Given the description of an element on the screen output the (x, y) to click on. 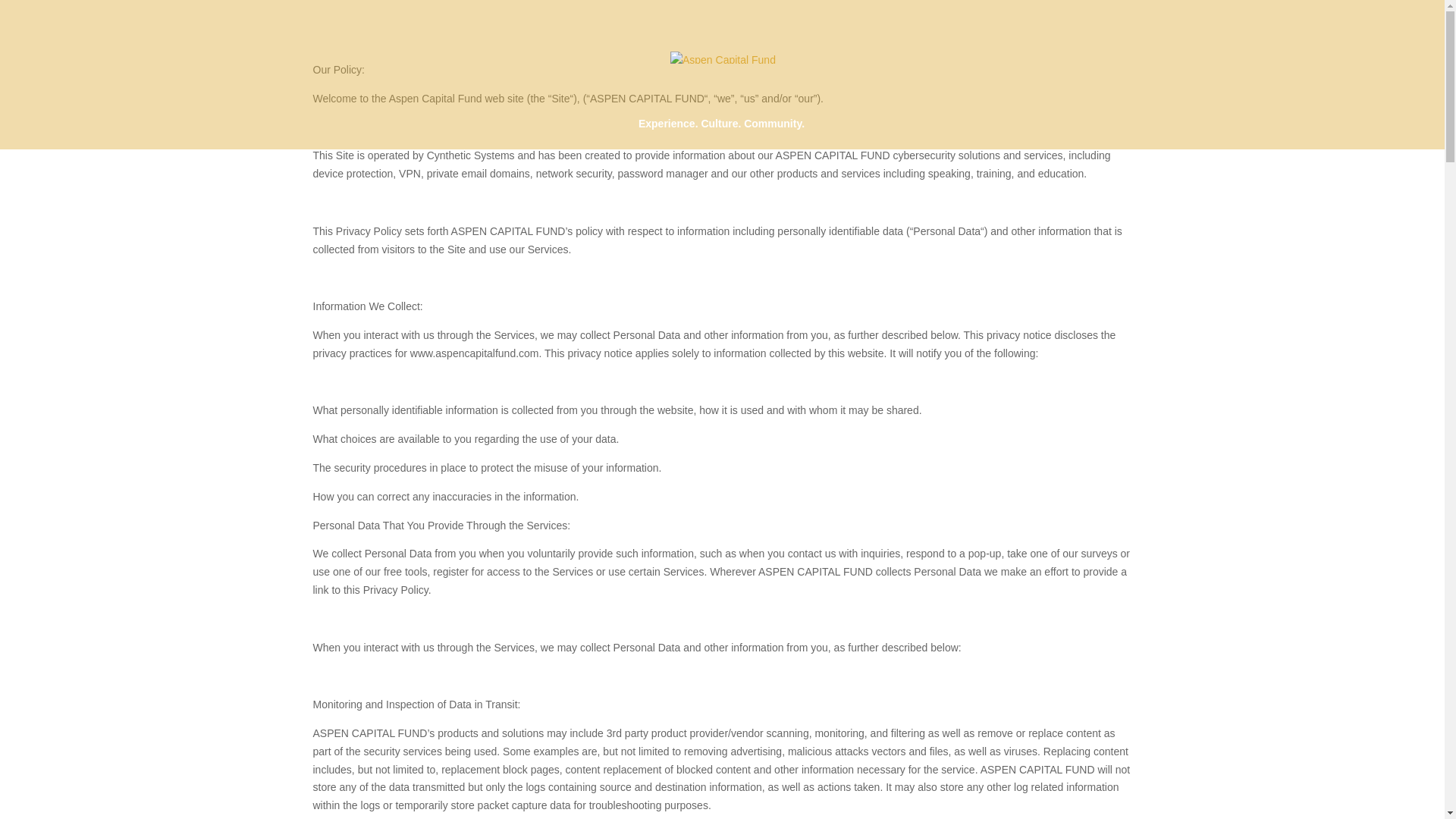
Experience. Culture. Community. (722, 133)
